Given the description of an element on the screen output the (x, y) to click on. 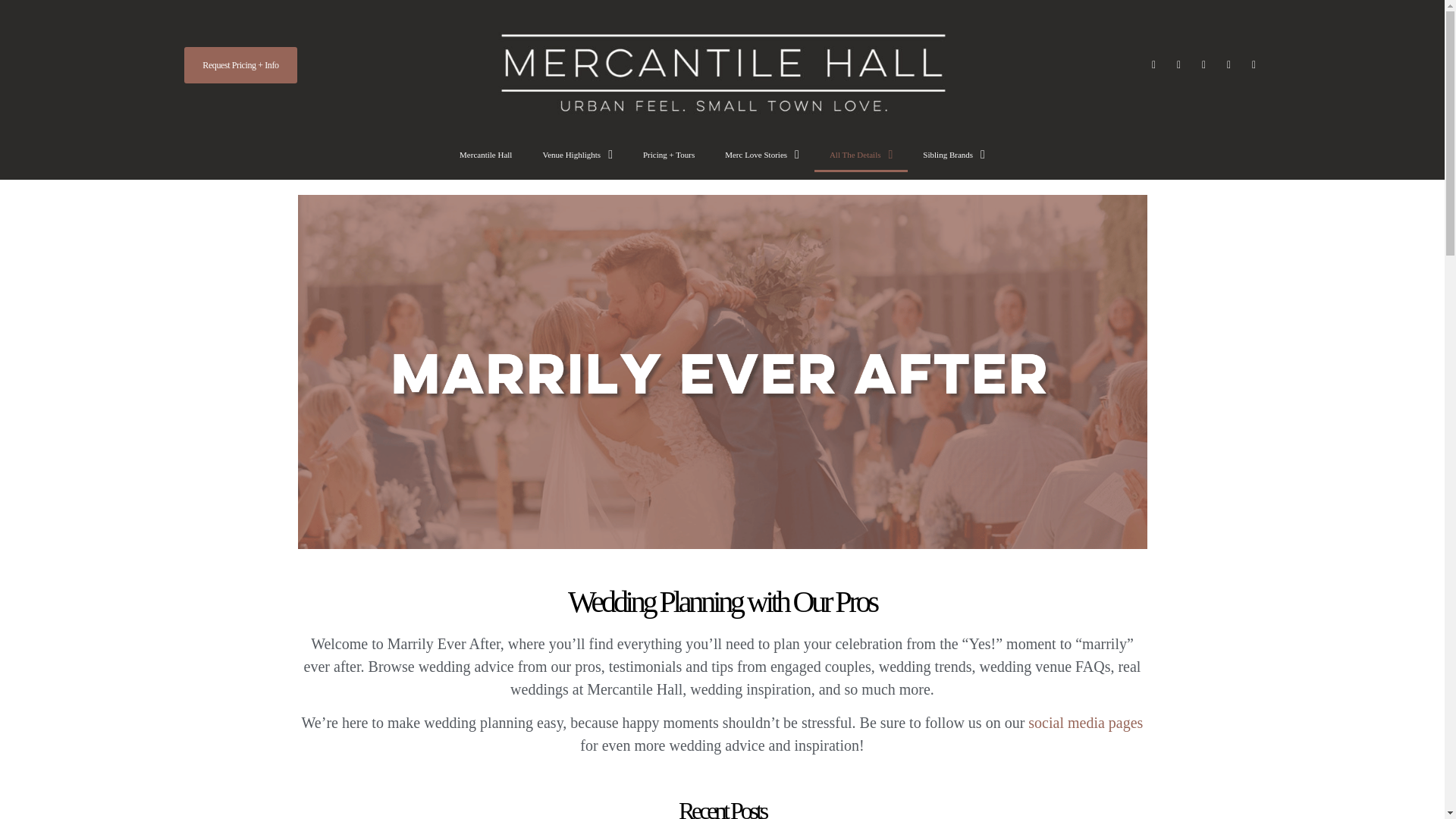
Sibling Brands (953, 154)
Merc Love Stories (761, 154)
Venue Highlights (577, 154)
All The Details (860, 154)
Mercantile Hall (485, 154)
